Given the description of an element on the screen output the (x, y) to click on. 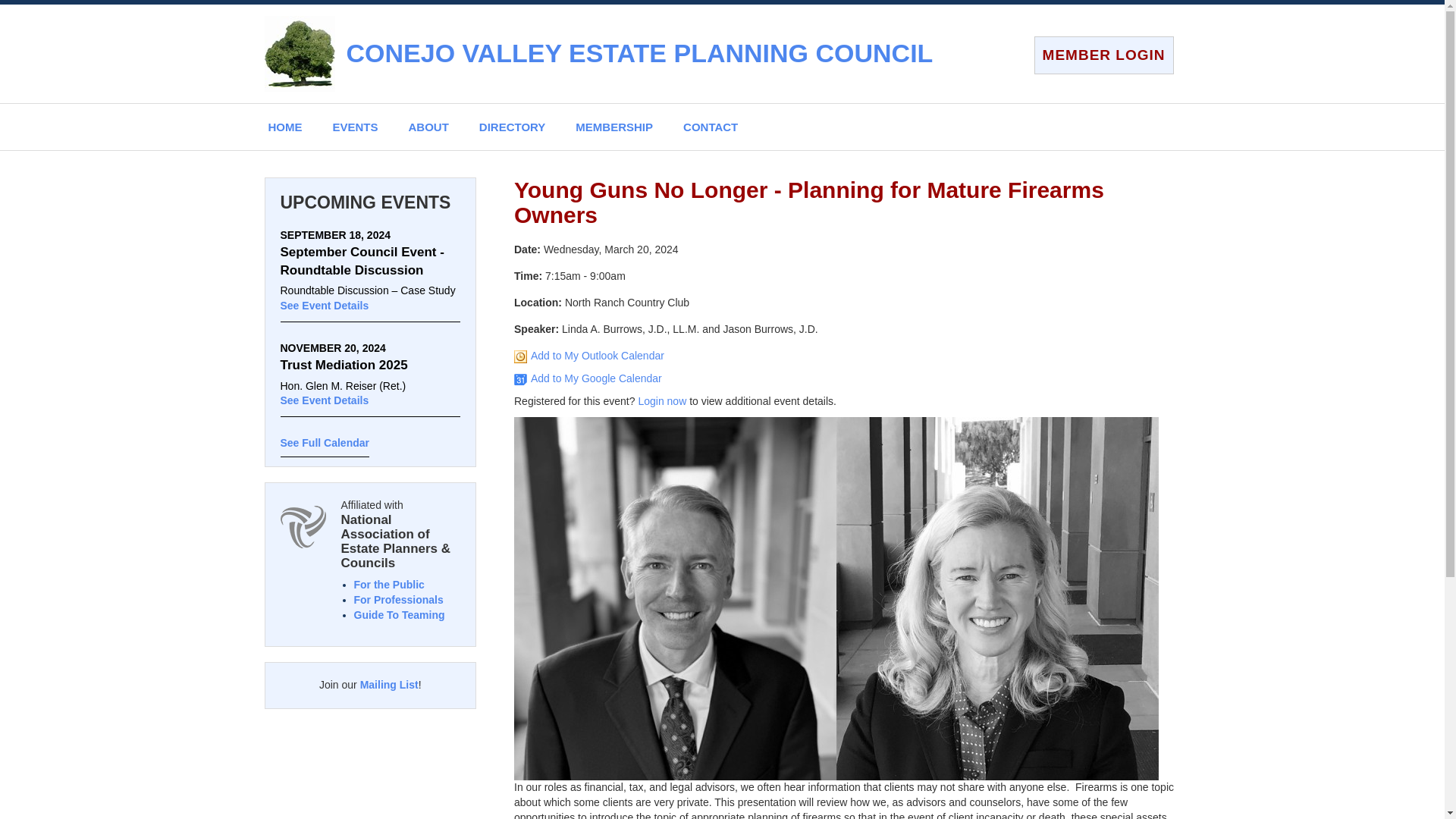
CONEJO VALLEY ESTATE PLANNING COUNCIL (639, 52)
EVENTS (355, 126)
MEMBER LOGIN (1103, 54)
HOME (285, 126)
ABOUT (428, 126)
